Given the description of an element on the screen output the (x, y) to click on. 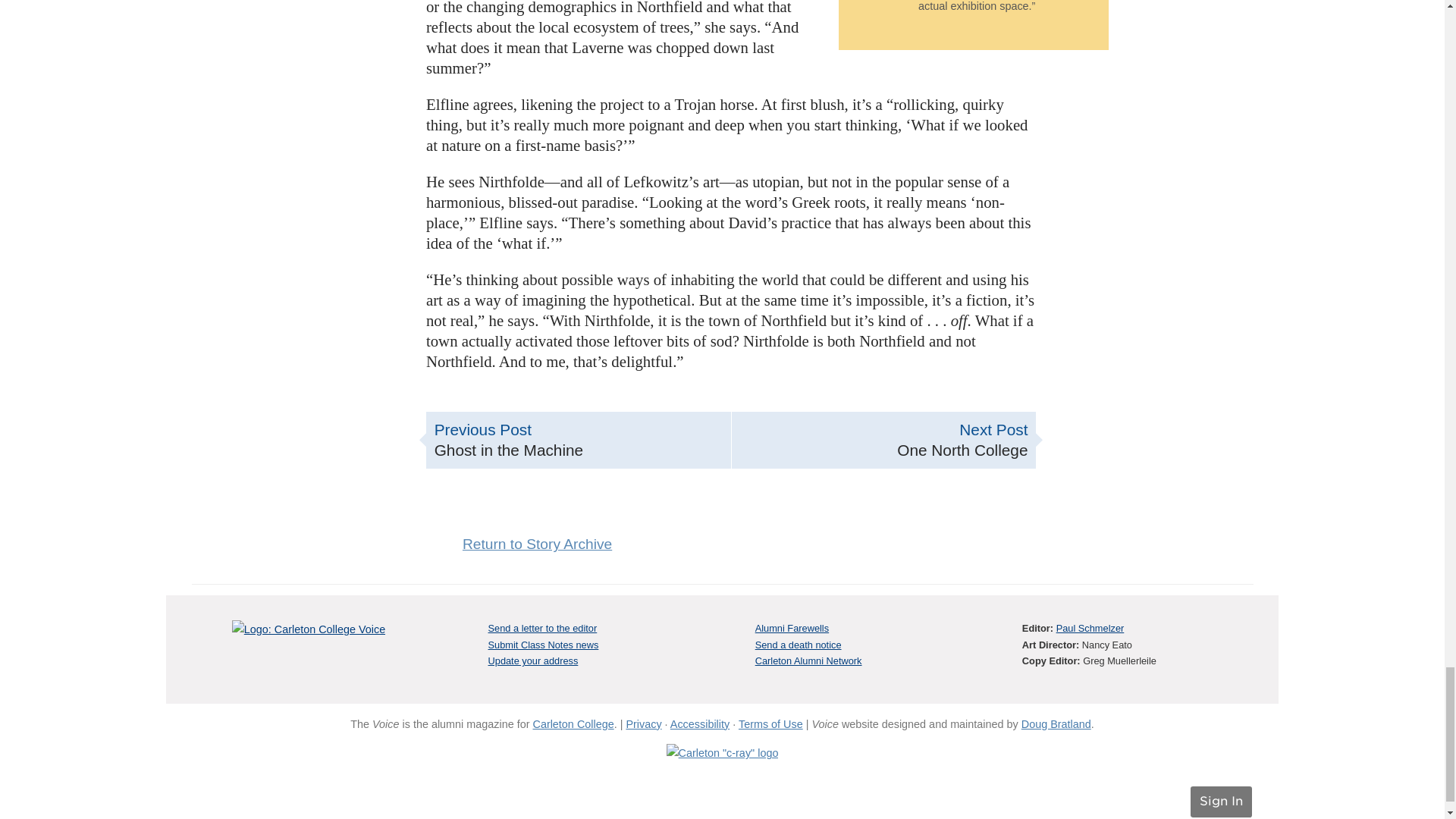
Update your address (884, 440)
Return to Story Archive (532, 660)
Send a letter to the editor (537, 544)
Submit Class Notes news (578, 440)
